Given the description of an element on the screen output the (x, y) to click on. 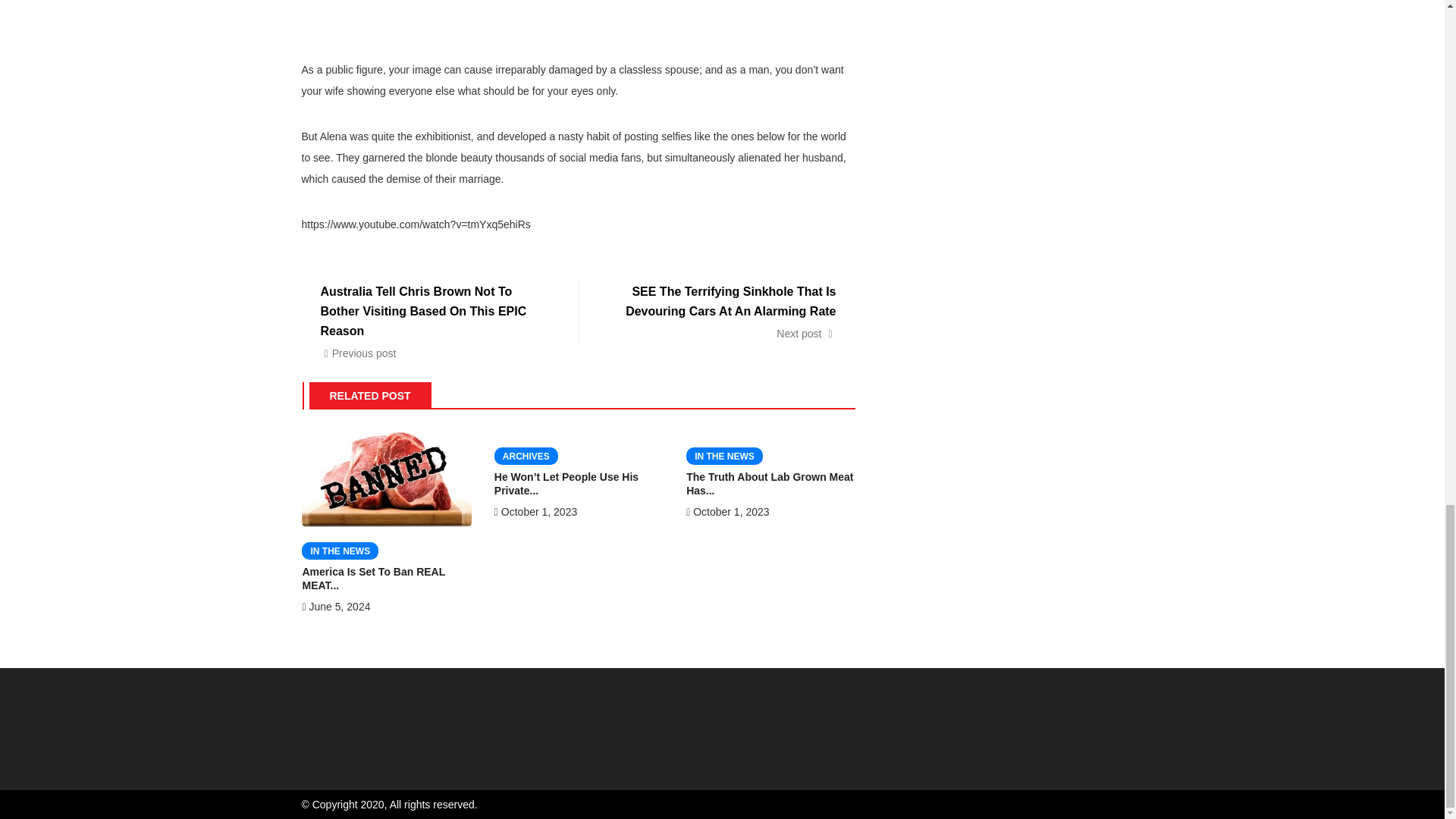
ARCHIVES (526, 456)
America Is Set To Ban REAL MEAT... (373, 578)
IN THE NEWS (723, 456)
IN THE NEWS (339, 550)
